Given the description of an element on the screen output the (x, y) to click on. 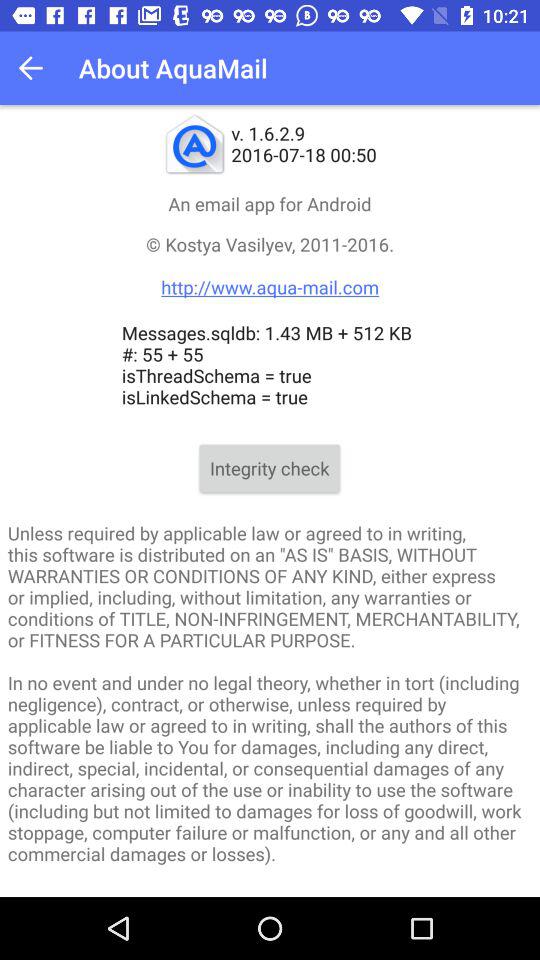
select the app below messages sqldb 1 (269, 467)
